Given the description of an element on the screen output the (x, y) to click on. 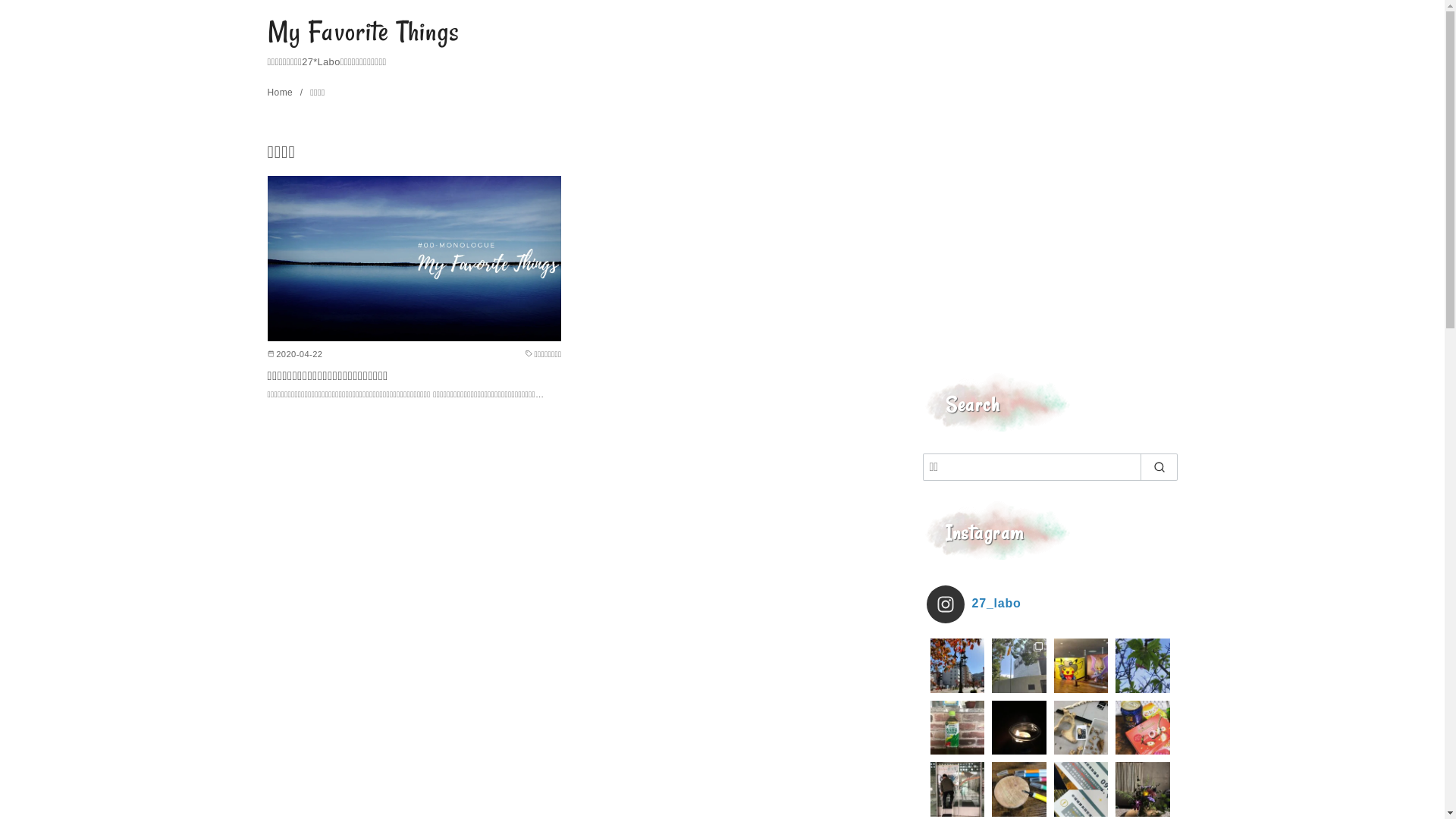
Home Element type: text (280, 92)
My Favorite Things Element type: text (362, 31)
Advertisement Element type: hover (1049, 246)
27_labo Element type: text (1049, 604)
